Given the description of an element on the screen output the (x, y) to click on. 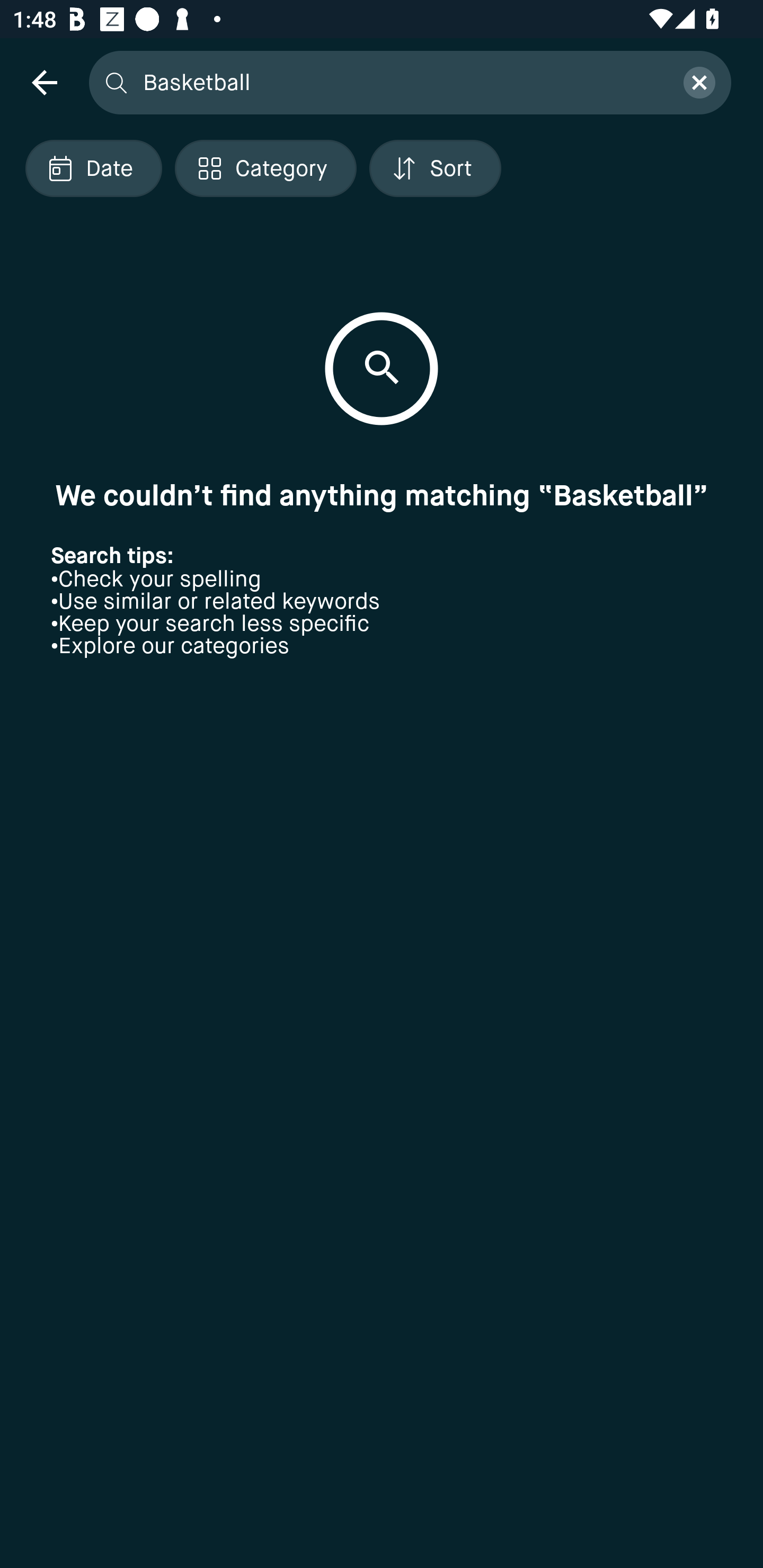
navigation icon (44, 81)
Basketball (402, 81)
Localized description Date (93, 168)
Localized description Category (265, 168)
Localized description Sort (435, 168)
We couldn’t find anything matching “Basketball” (381, 495)
